Given the description of an element on the screen output the (x, y) to click on. 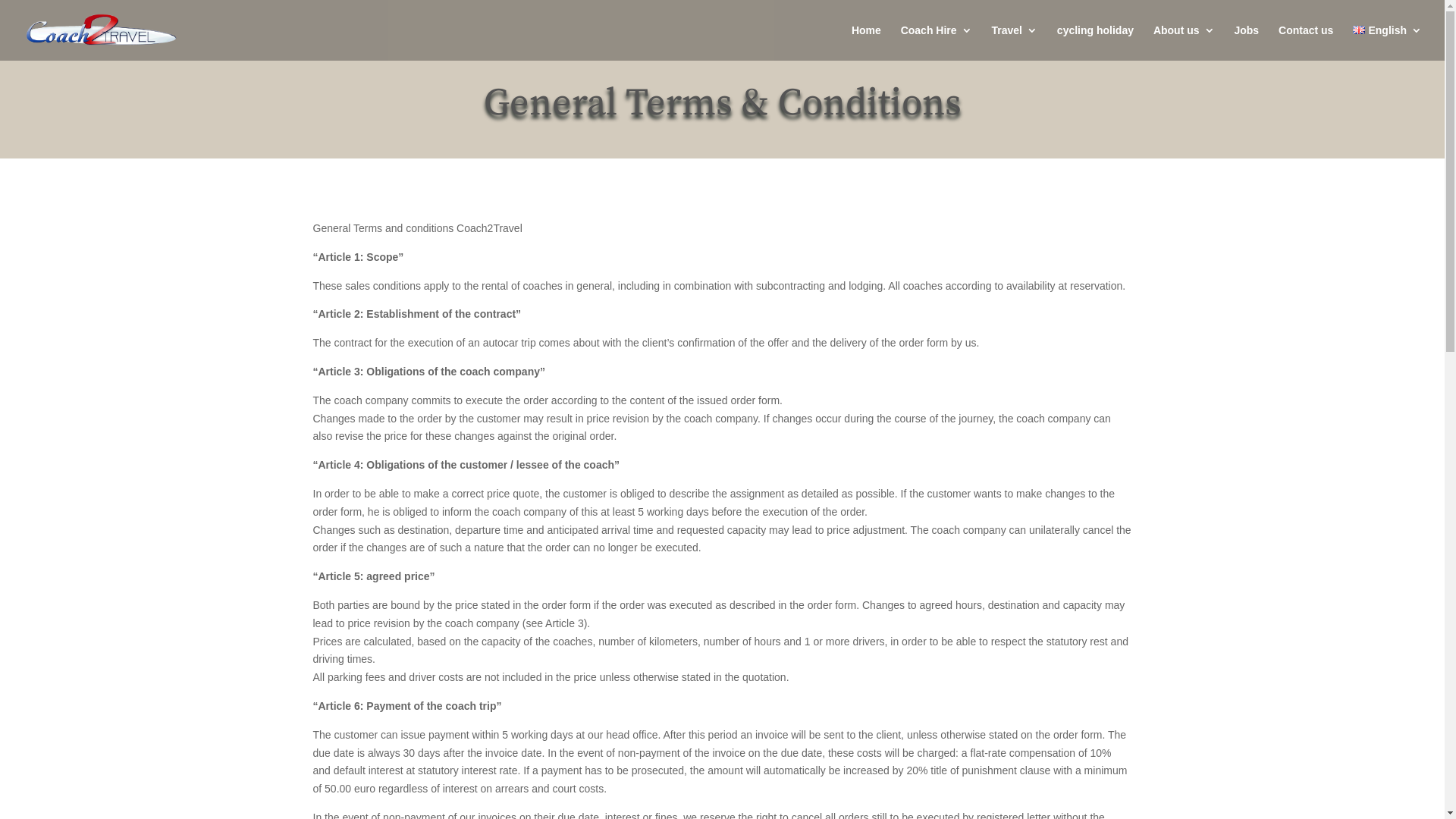
Coach Hire Element type: text (936, 42)
About us Element type: text (1183, 42)
Home Element type: text (866, 42)
English Element type: text (1386, 42)
Contact us Element type: text (1305, 42)
Jobs Element type: text (1245, 42)
Travel Element type: text (1013, 42)
cycling holiday Element type: text (1095, 42)
